Given the description of an element on the screen output the (x, y) to click on. 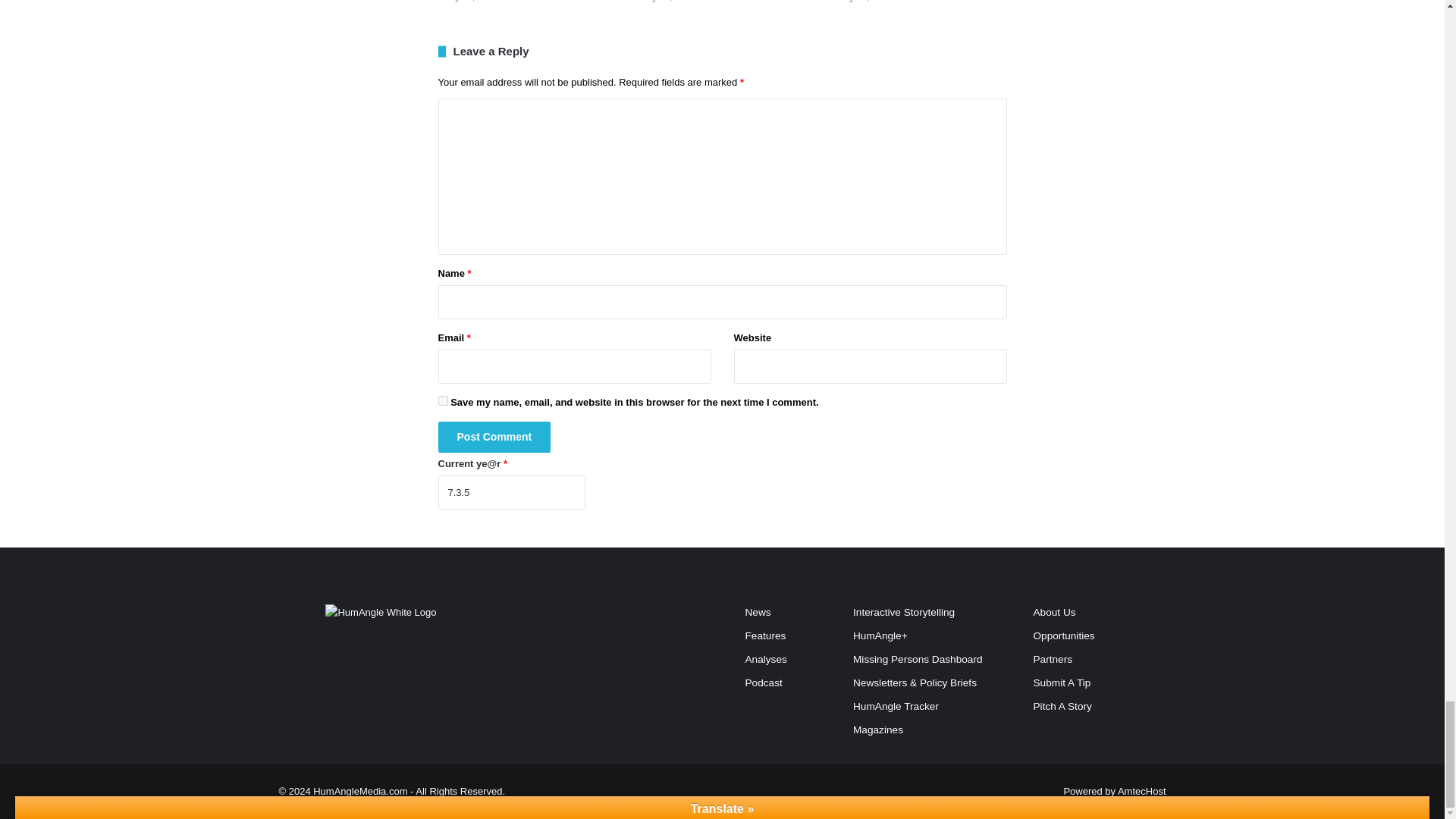
7.3.5 (511, 492)
Post Comment (494, 436)
yes (443, 400)
